Given the description of an element on the screen output the (x, y) to click on. 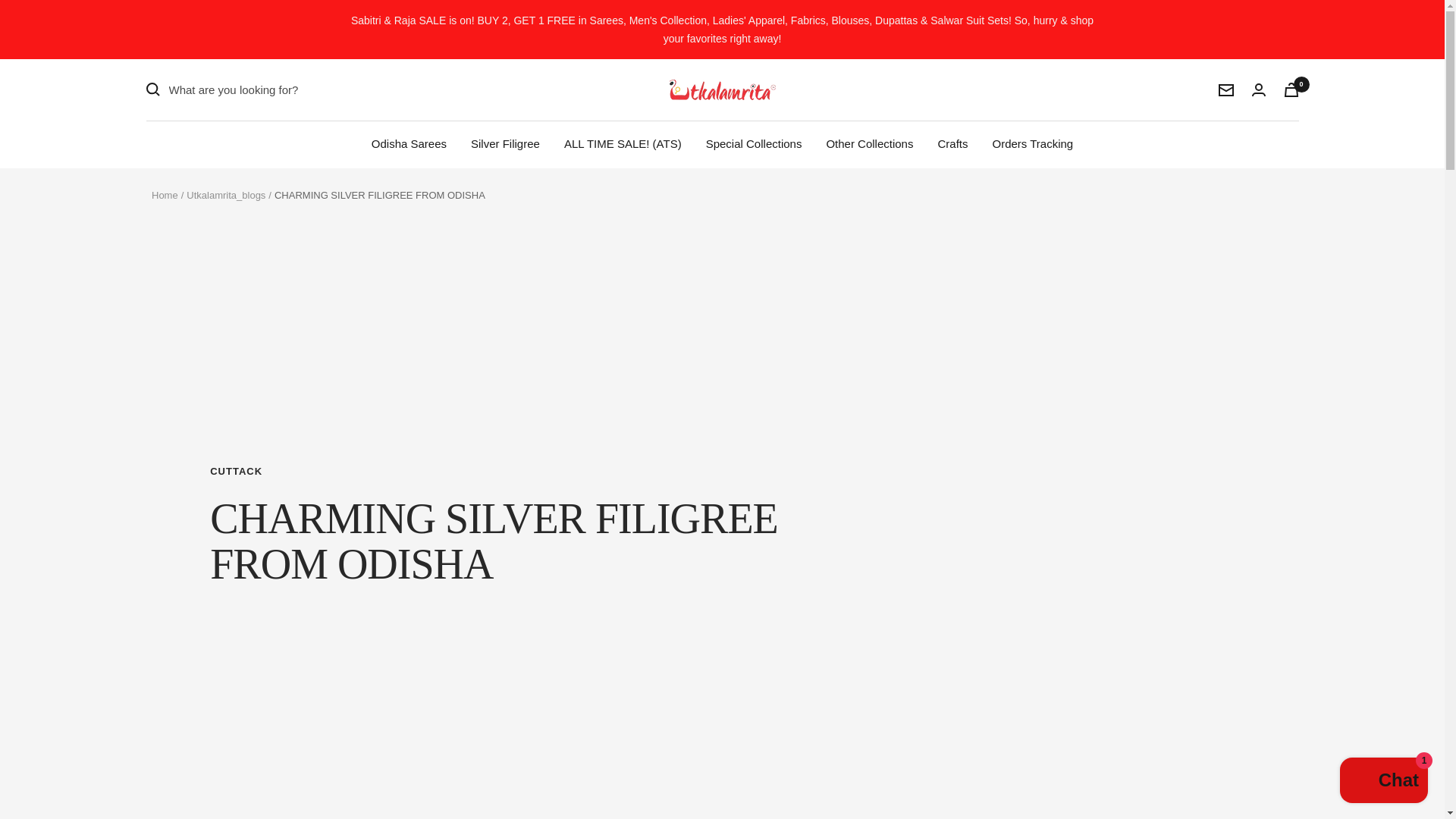
Special Collections (754, 143)
Newsletter (1225, 89)
0 (1290, 89)
Home (164, 194)
CUTTACK (494, 471)
Crafts (952, 143)
Odisha Sarees (408, 143)
Orders Tracking (1032, 143)
Silver Filigree (505, 143)
Other Collections (868, 143)
Shopify online store chat (1383, 781)
Utkalamrita (721, 89)
